Given the description of an element on the screen output the (x, y) to click on. 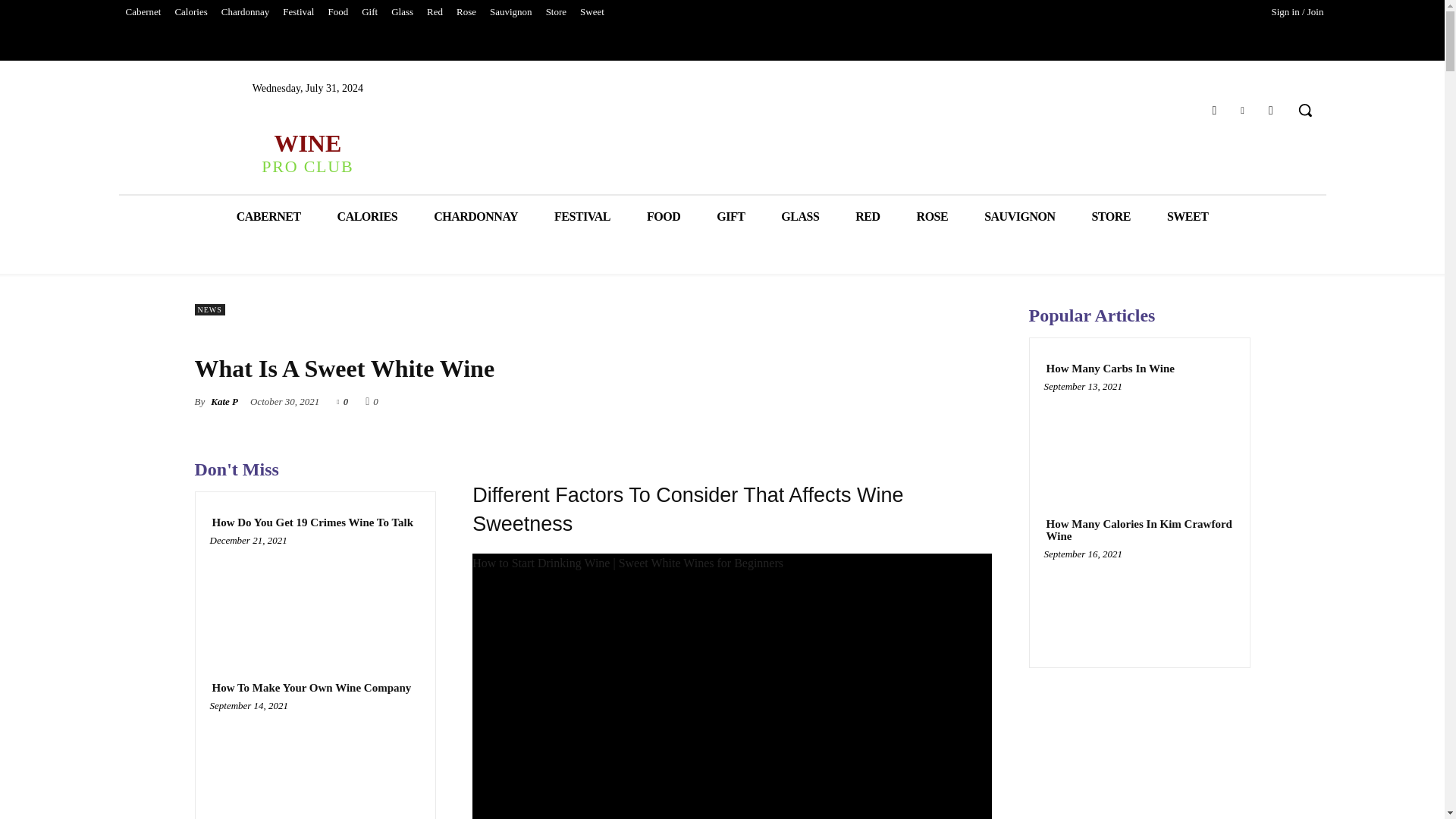
Rose (466, 12)
Calories (190, 12)
Youtube (1270, 109)
How Do You Get 19 Crimes Wine To Talk (314, 596)
How Do You Get 19 Crimes Wine To Talk (311, 522)
Sweet (592, 12)
Red (434, 12)
How To Make Your Own Wine Company (314, 761)
Sauvignon (510, 12)
Store (555, 12)
Chardonnay (245, 12)
Glass (402, 12)
Festival (298, 12)
Facebook (1214, 109)
Twitter (1241, 109)
